Given the description of an element on the screen output the (x, y) to click on. 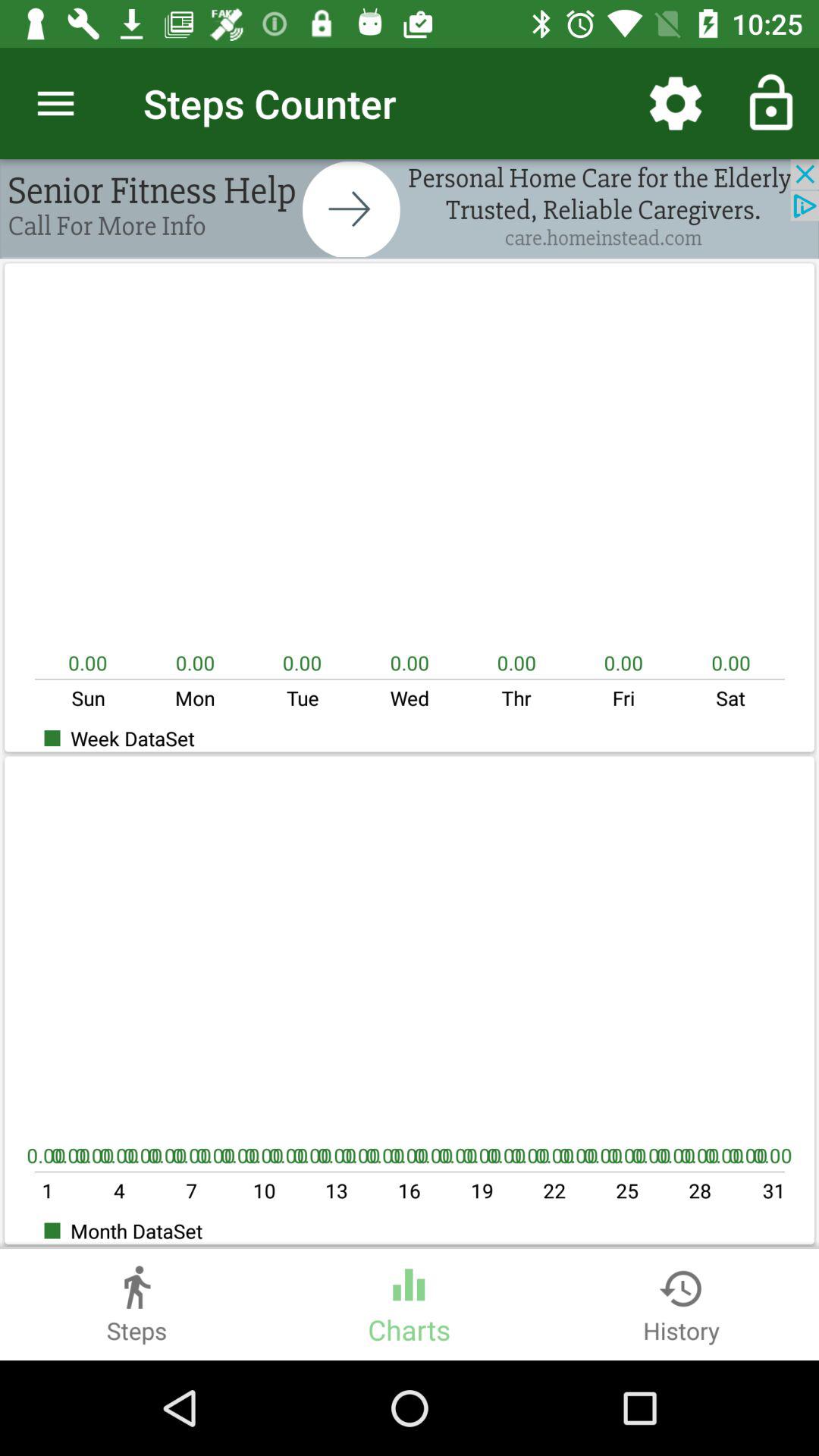
select the symbol which is immediately above steps (136, 1281)
select the option history which is on the bottom right of the page (681, 1304)
select the symbol which is to the immediate right of settings symbol (771, 103)
select a settings icon on a page (675, 103)
select the icon which is above the charts (408, 1278)
